Given the description of an element on the screen output the (x, y) to click on. 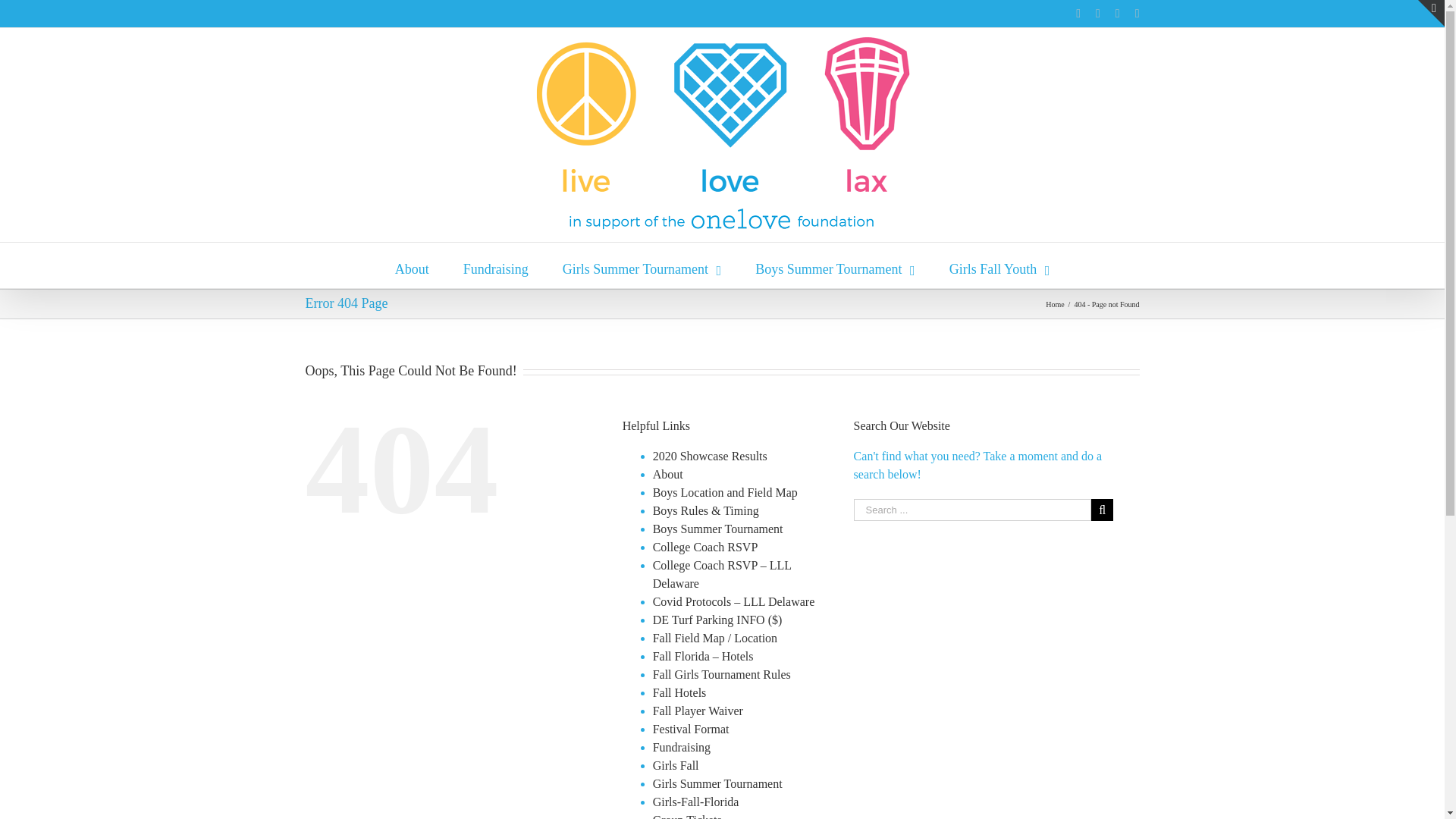
Fundraising (495, 265)
Girls Summer Tournament (641, 265)
Girls Fall Youth (999, 265)
Boys Summer Tournament (834, 265)
